Given the description of an element on the screen output the (x, y) to click on. 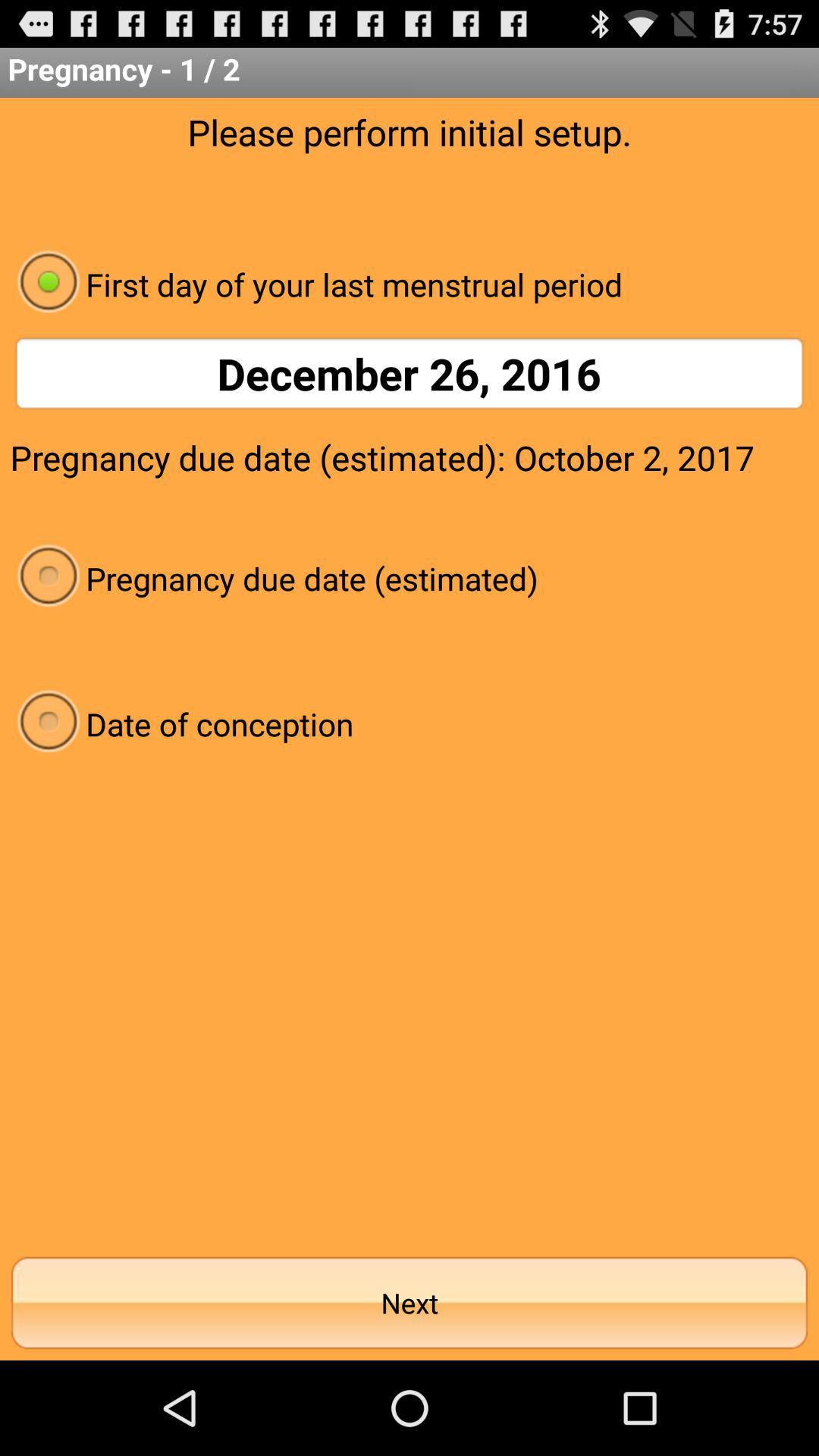
choose the icon above the next button (409, 723)
